Given the description of an element on the screen output the (x, y) to click on. 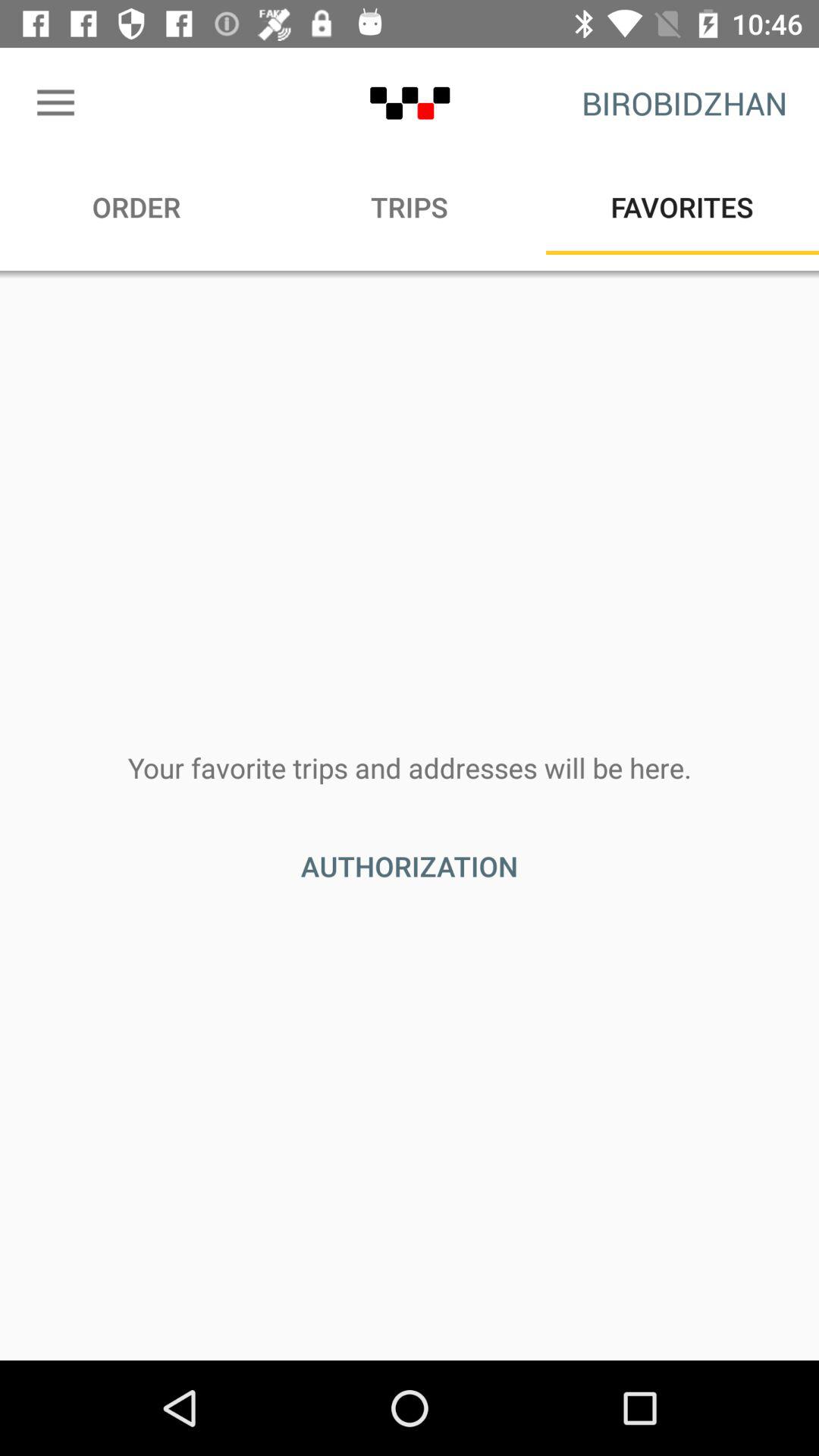
select authorization item (409, 865)
